Given the description of an element on the screen output the (x, y) to click on. 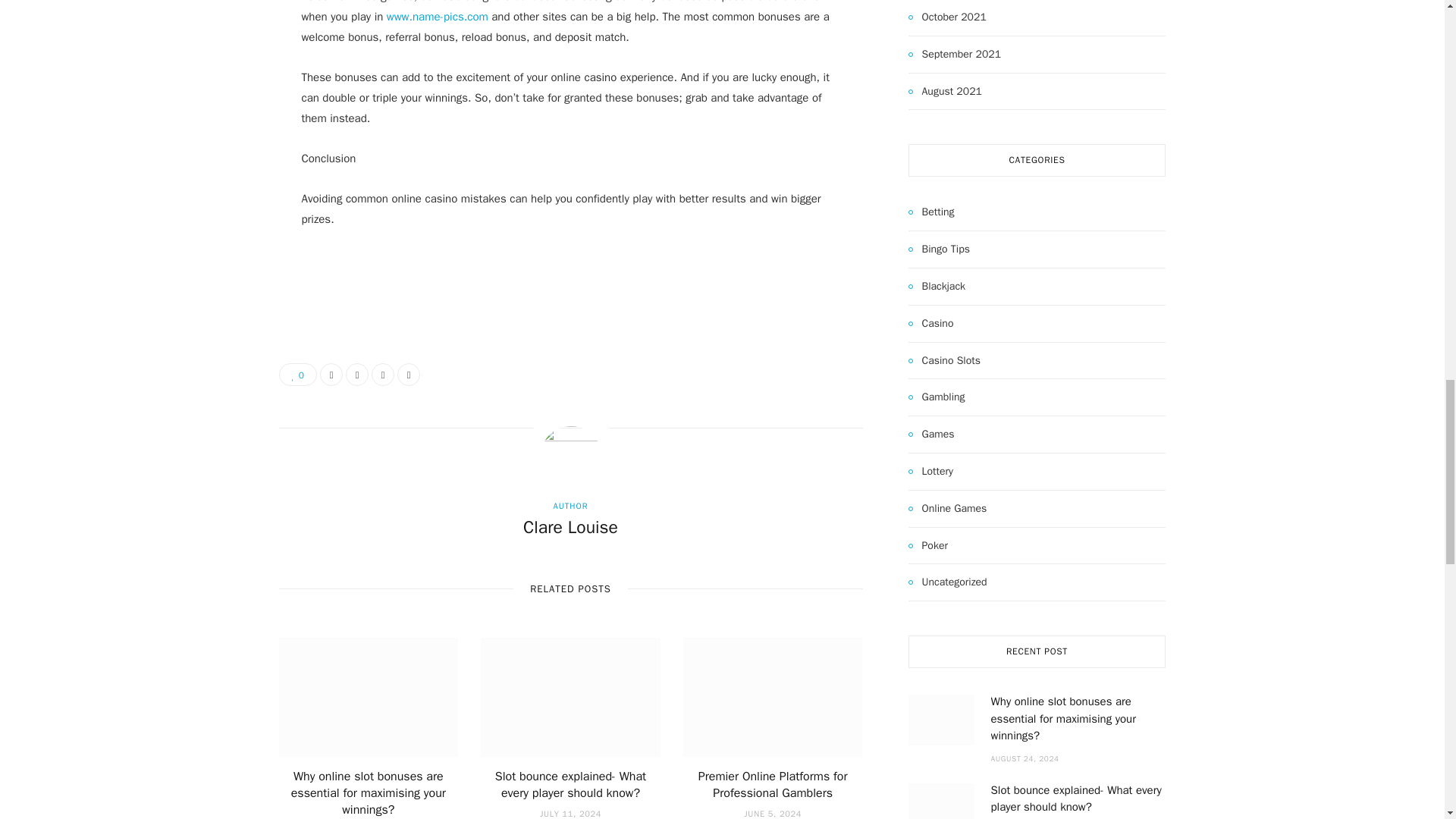
Clare Louise (569, 527)
Posts by Clare Louise (569, 527)
Email (408, 374)
Premier Online Platforms for Professional Gamblers (772, 784)
www.name-pics.com (437, 16)
JUNE 5, 2024 (773, 813)
0 (298, 374)
Share on Twitter (357, 374)
Pinterest (382, 374)
